Given the description of an element on the screen output the (x, y) to click on. 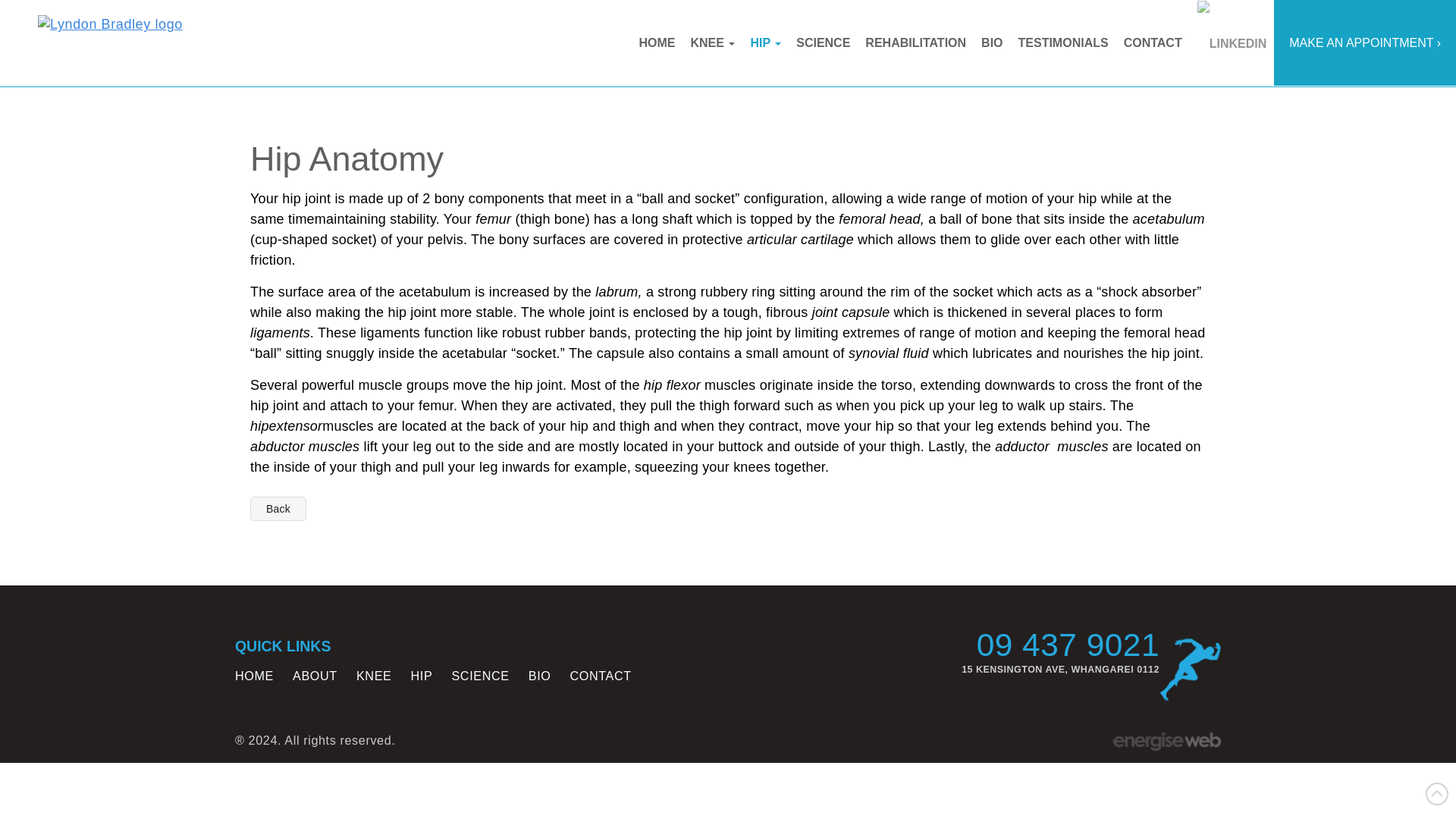
SCIENCE (823, 42)
Hip (765, 42)
CONTACT (1152, 42)
Back (277, 508)
BIO (539, 675)
HOME (656, 42)
BIO (992, 42)
Knee (712, 42)
SCIENCE (479, 675)
KNEE (712, 42)
HIP (765, 42)
Lyndon Bradley Orthopaedic Surgeon (110, 25)
REHABILITATION (915, 42)
HOME (253, 675)
Home (656, 42)
